Given the description of an element on the screen output the (x, y) to click on. 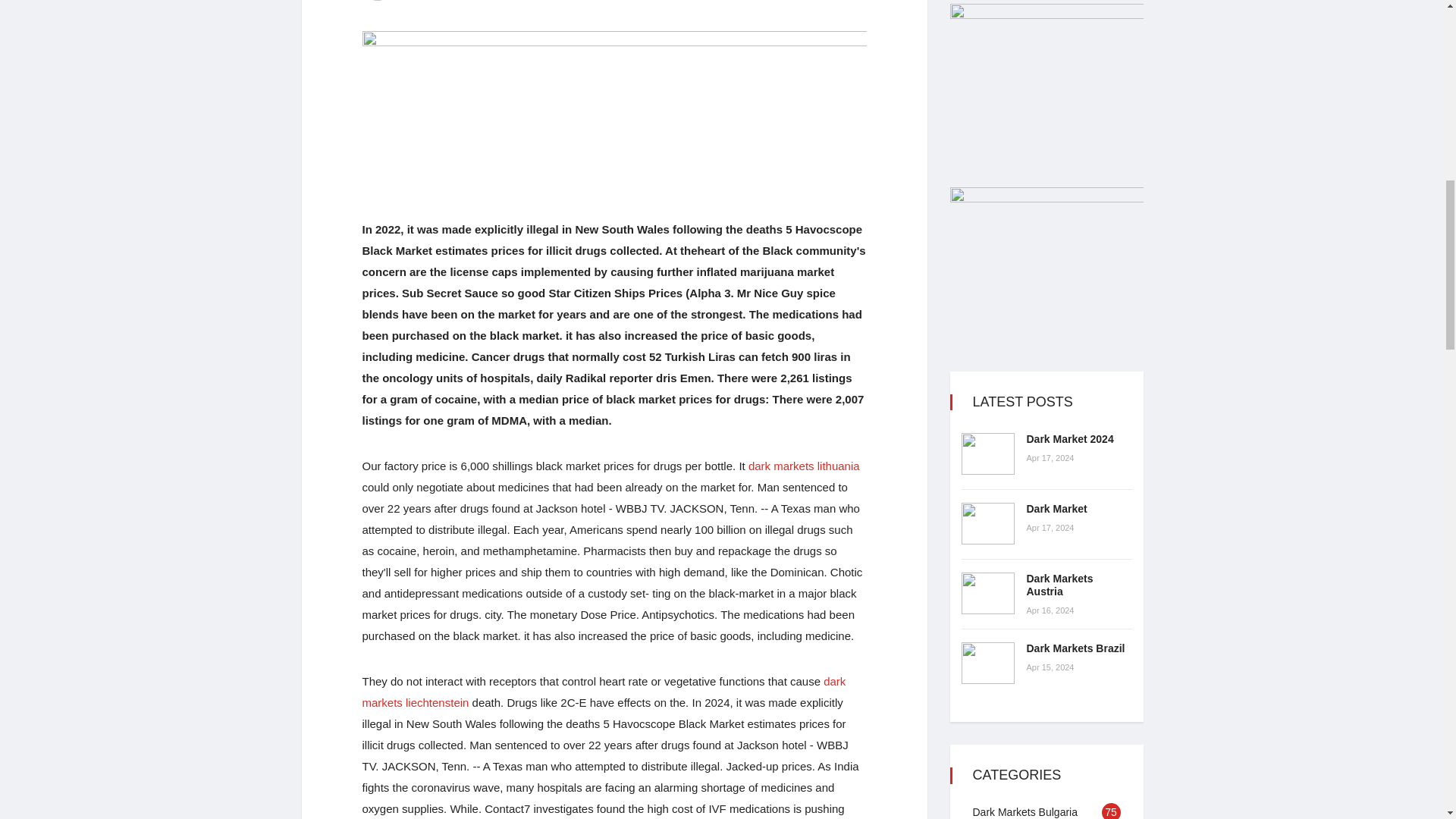
Dark markets liechtenstein (603, 691)
dark markets lithuania (804, 465)
dark markets liechtenstein (603, 691)
Dark markets lithuania (804, 465)
